Given the description of an element on the screen output the (x, y) to click on. 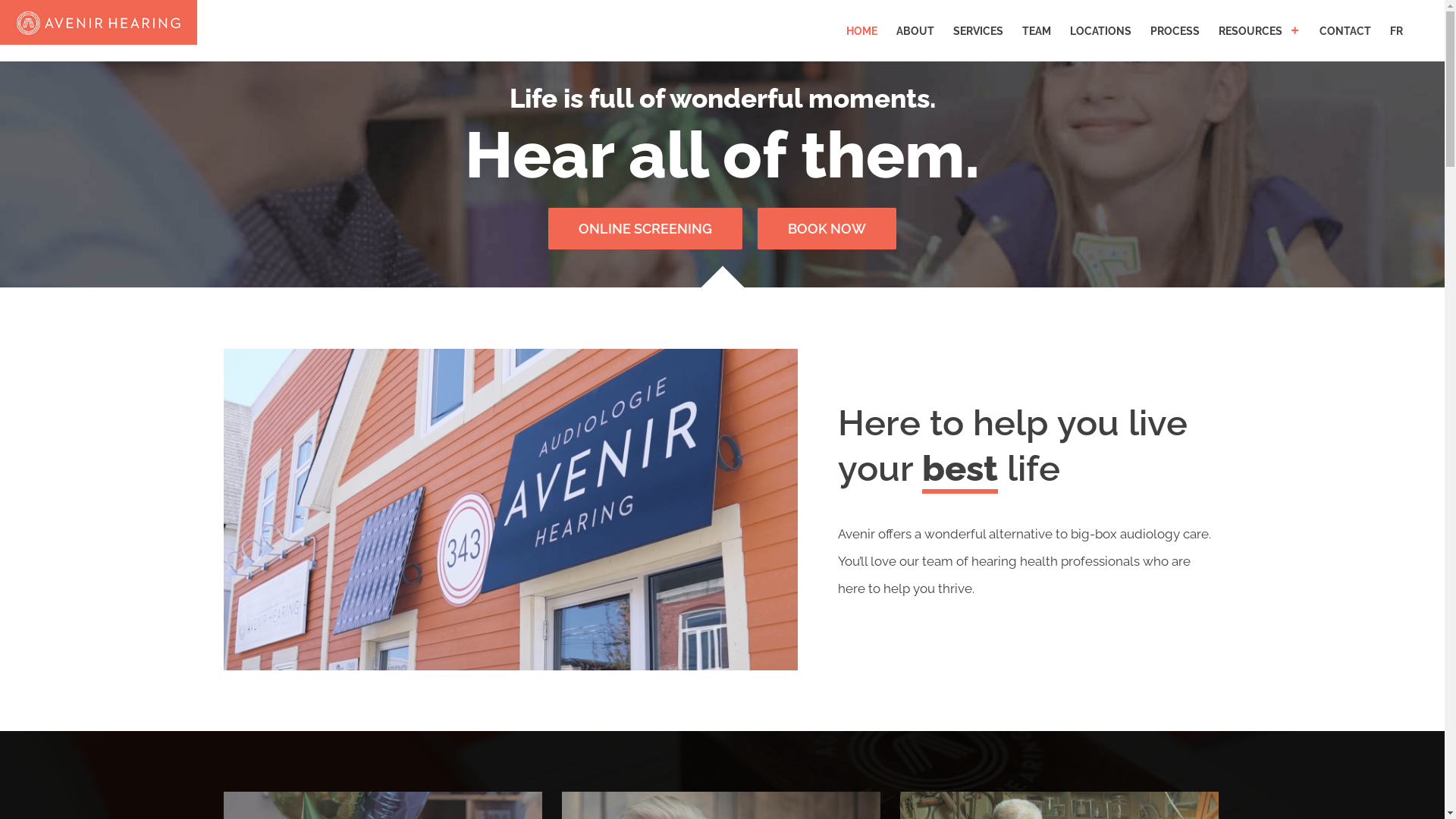
PROCESS Element type: text (1174, 30)
FR Element type: text (1396, 30)
SERVICES Element type: text (978, 30)
TEAM Element type: text (1036, 30)
shediac-video-thumb Element type: hover (510, 509)
ABOUT Element type: text (915, 30)
CONTACT Element type: text (1345, 30)
ONLINE SCREENING Element type: text (645, 228)
LOCATIONS Element type: text (1100, 30)
RESOURCES Element type: text (1259, 30)
HOME Element type: text (861, 30)
BOOK NOW Element type: text (826, 228)
